Given the description of an element on the screen output the (x, y) to click on. 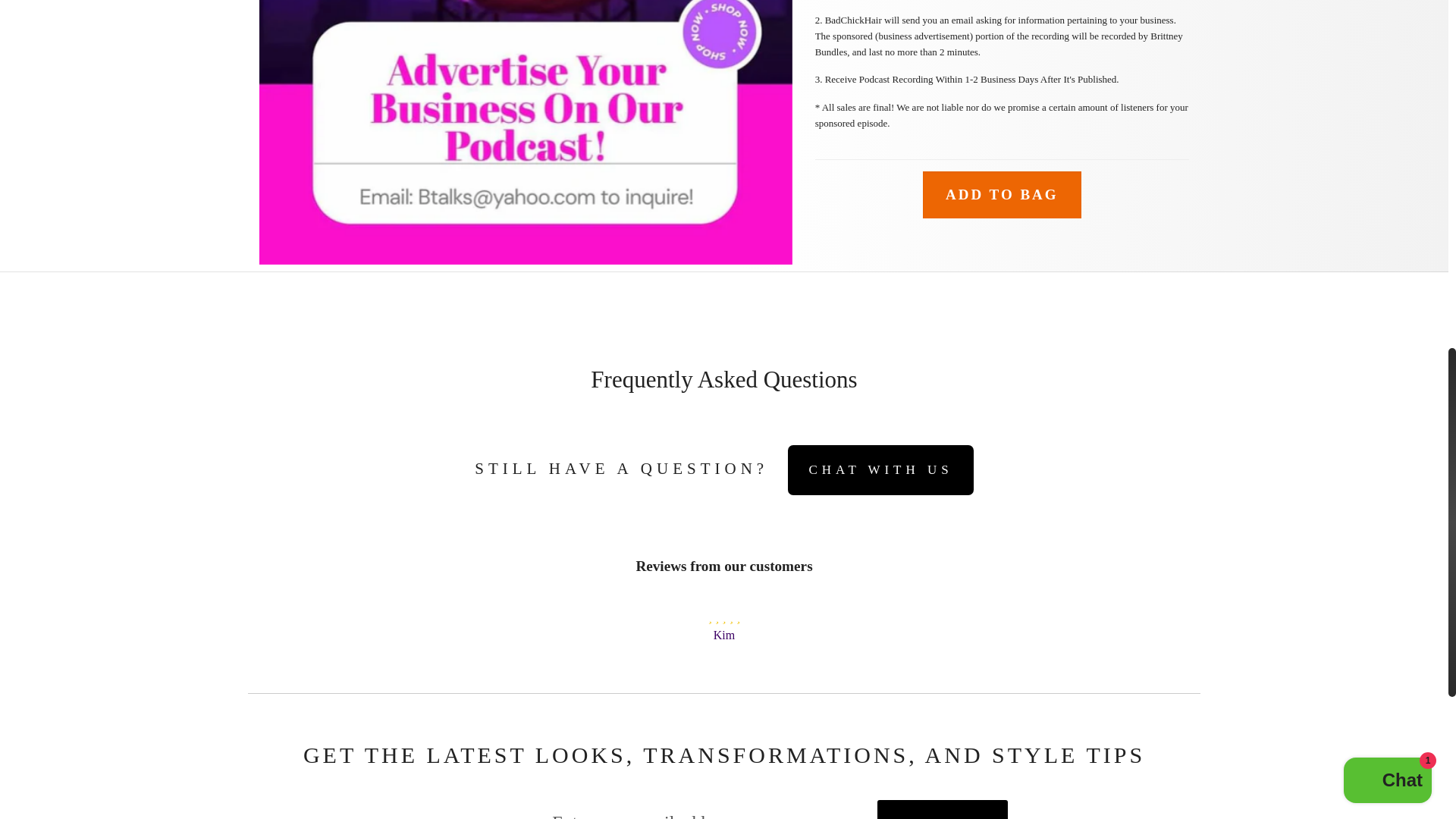
Add to bag (1002, 194)
Kim (724, 634)
Sign Up (942, 809)
Add to bag (1002, 194)
Sign Up (942, 809)
CHAT WITH US (879, 470)
